Given the description of an element on the screen output the (x, y) to click on. 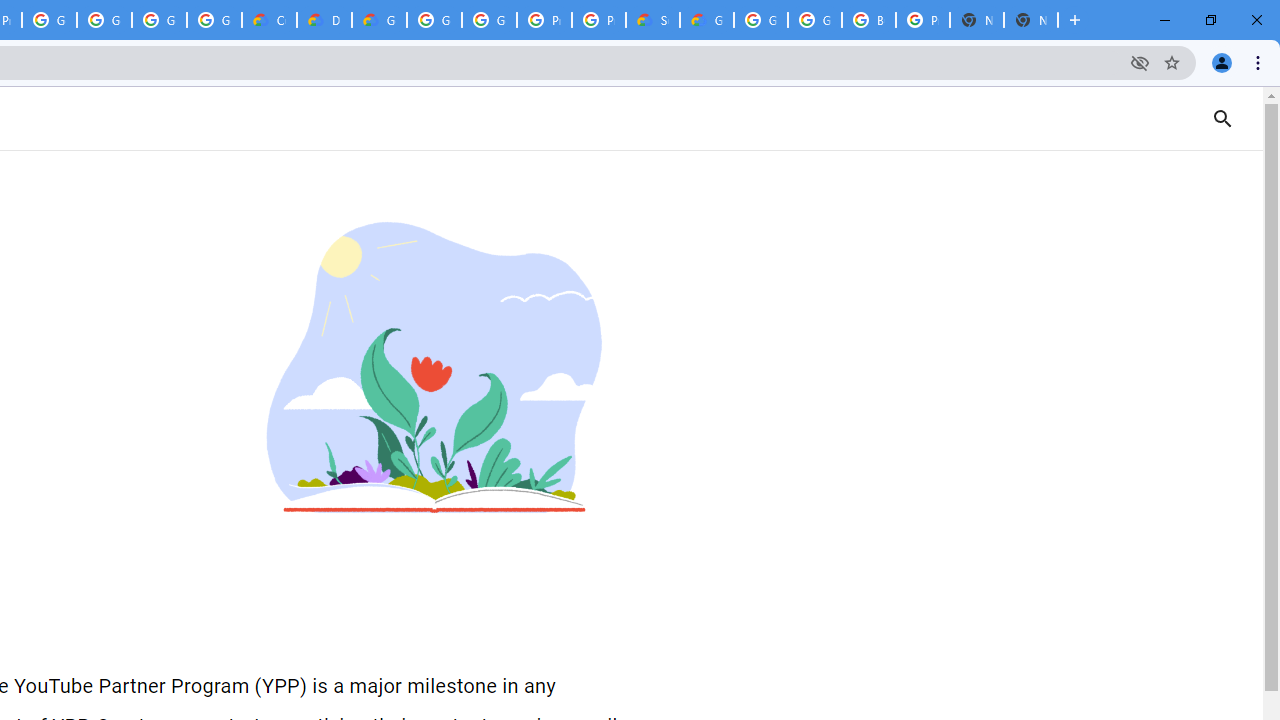
Customer Care | Google Cloud (268, 20)
Monetization policies (433, 380)
Support Hub | Google Cloud (652, 20)
Google Workspace - Specific Terms (158, 20)
New Tab (1030, 20)
Google Cloud Platform (434, 20)
Google Cloud Platform (489, 20)
